Given the description of an element on the screen output the (x, y) to click on. 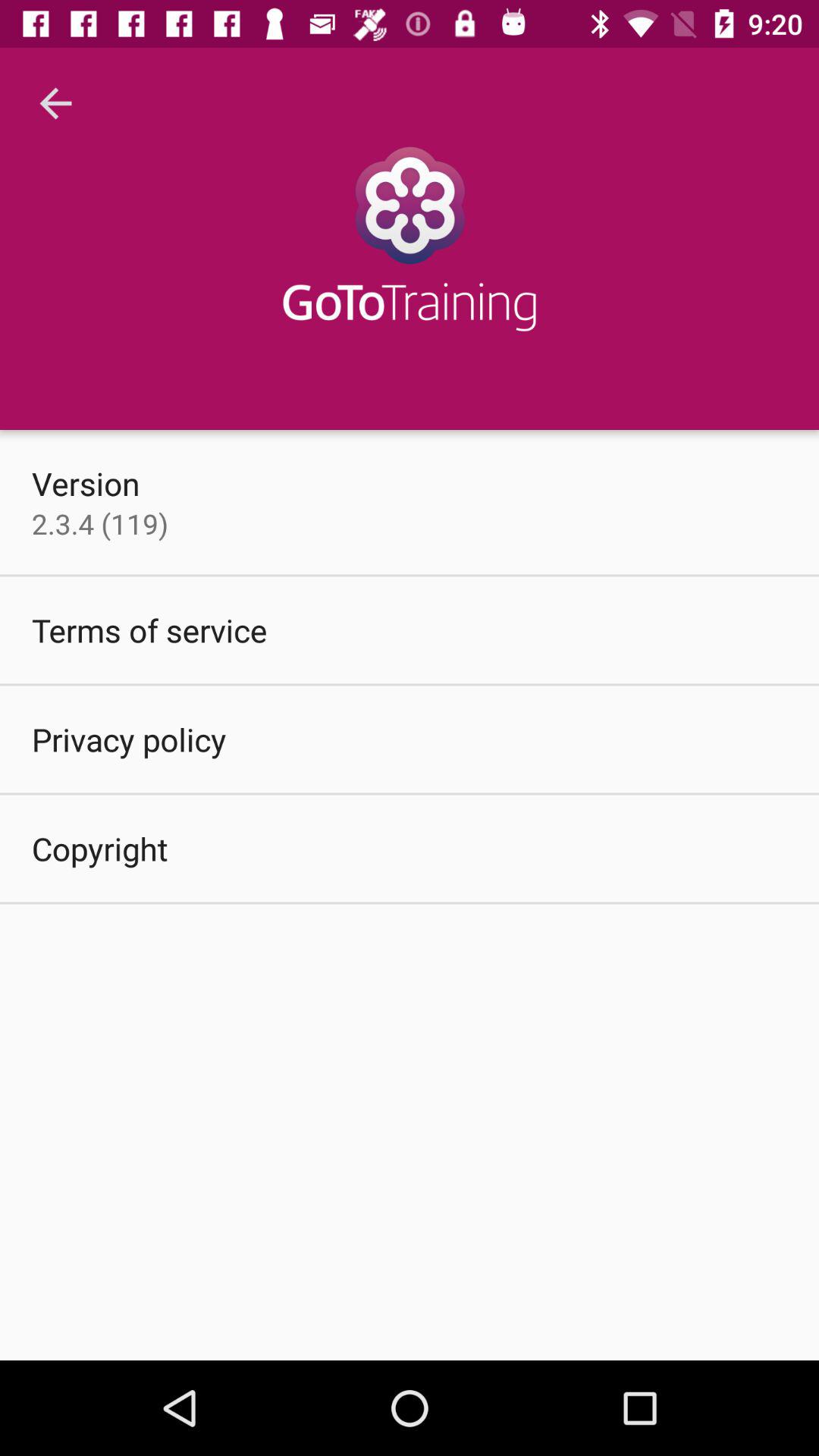
swipe until the version (85, 483)
